Given the description of an element on the screen output the (x, y) to click on. 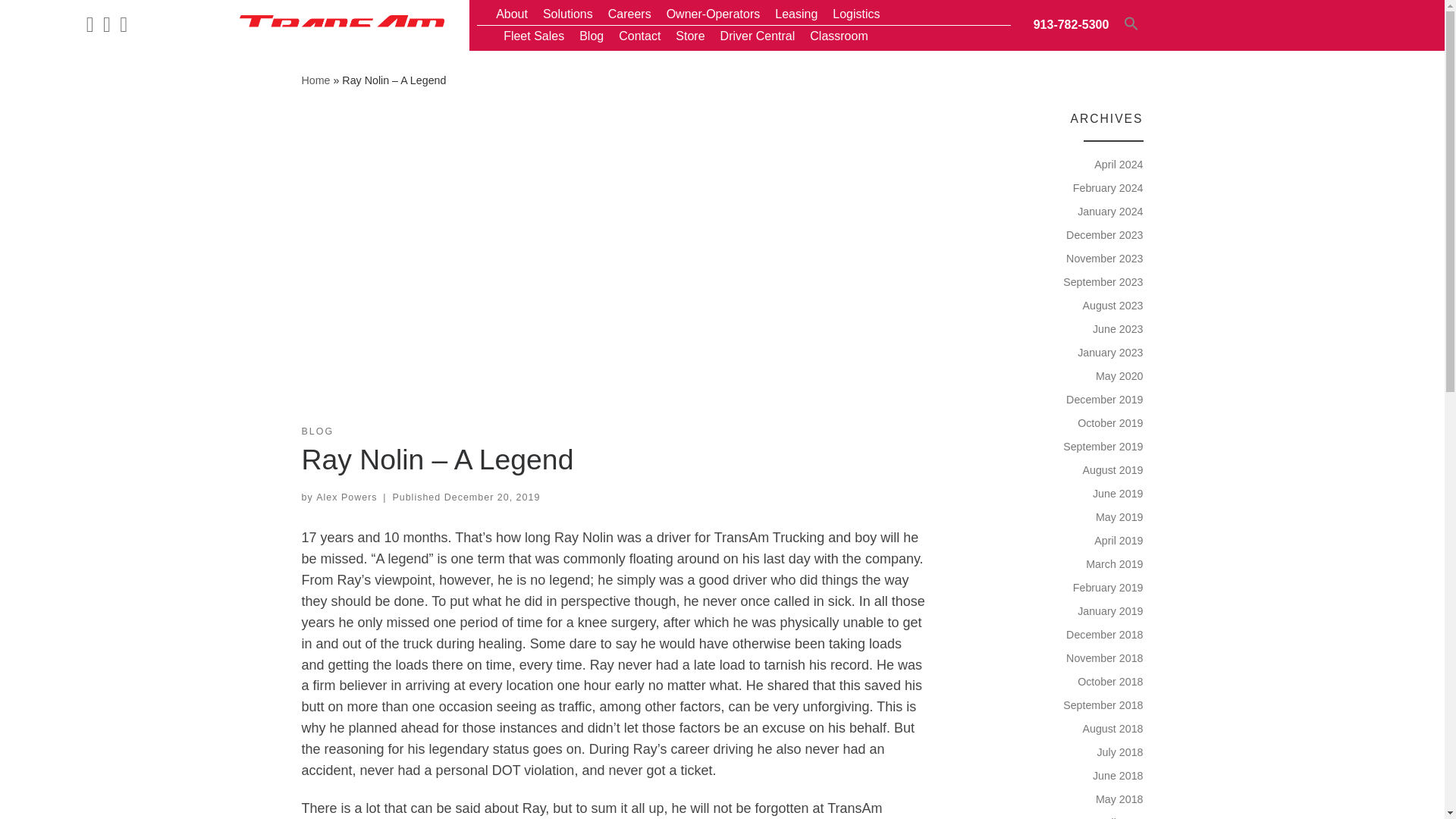
Solutions (567, 14)
Home (315, 80)
Store (689, 35)
December 20, 2019 (492, 497)
Driver Central (757, 35)
Careers (629, 14)
Alex Powers (346, 497)
BLOG (317, 431)
Leasing (796, 14)
Blog (591, 35)
